Given the description of an element on the screen output the (x, y) to click on. 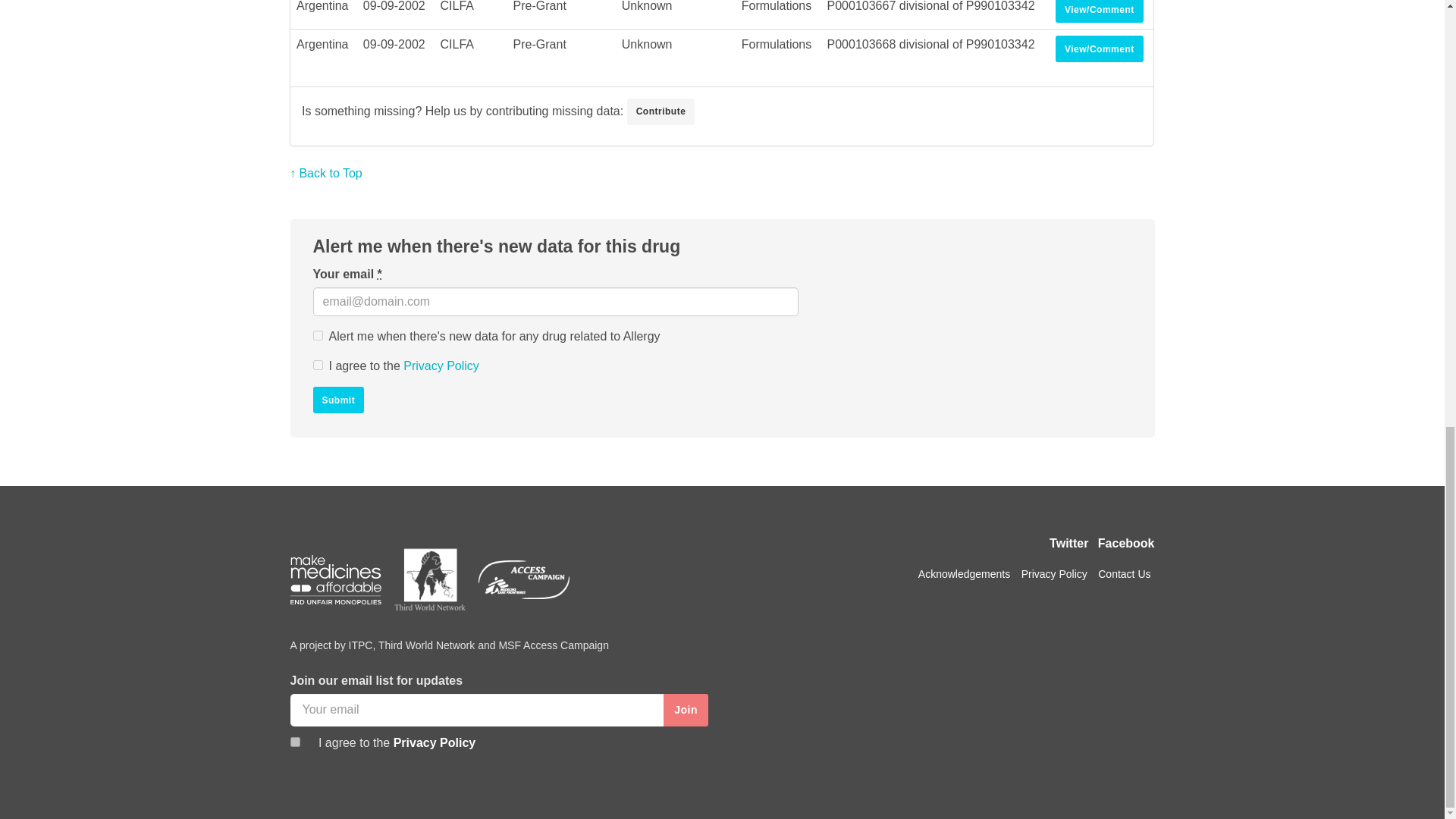
Follow us on Twitter (1068, 543)
Join (685, 709)
Submit (338, 399)
Contribute (661, 111)
Facebook (1125, 543)
Join (685, 709)
Acknowledgements (964, 573)
Submit (338, 399)
required (379, 273)
Privacy Policy (441, 365)
Contact Us (1123, 573)
1 (294, 741)
Privacy Policy (1054, 573)
Twitter (1068, 543)
Allergy (317, 335)
